Given the description of an element on the screen output the (x, y) to click on. 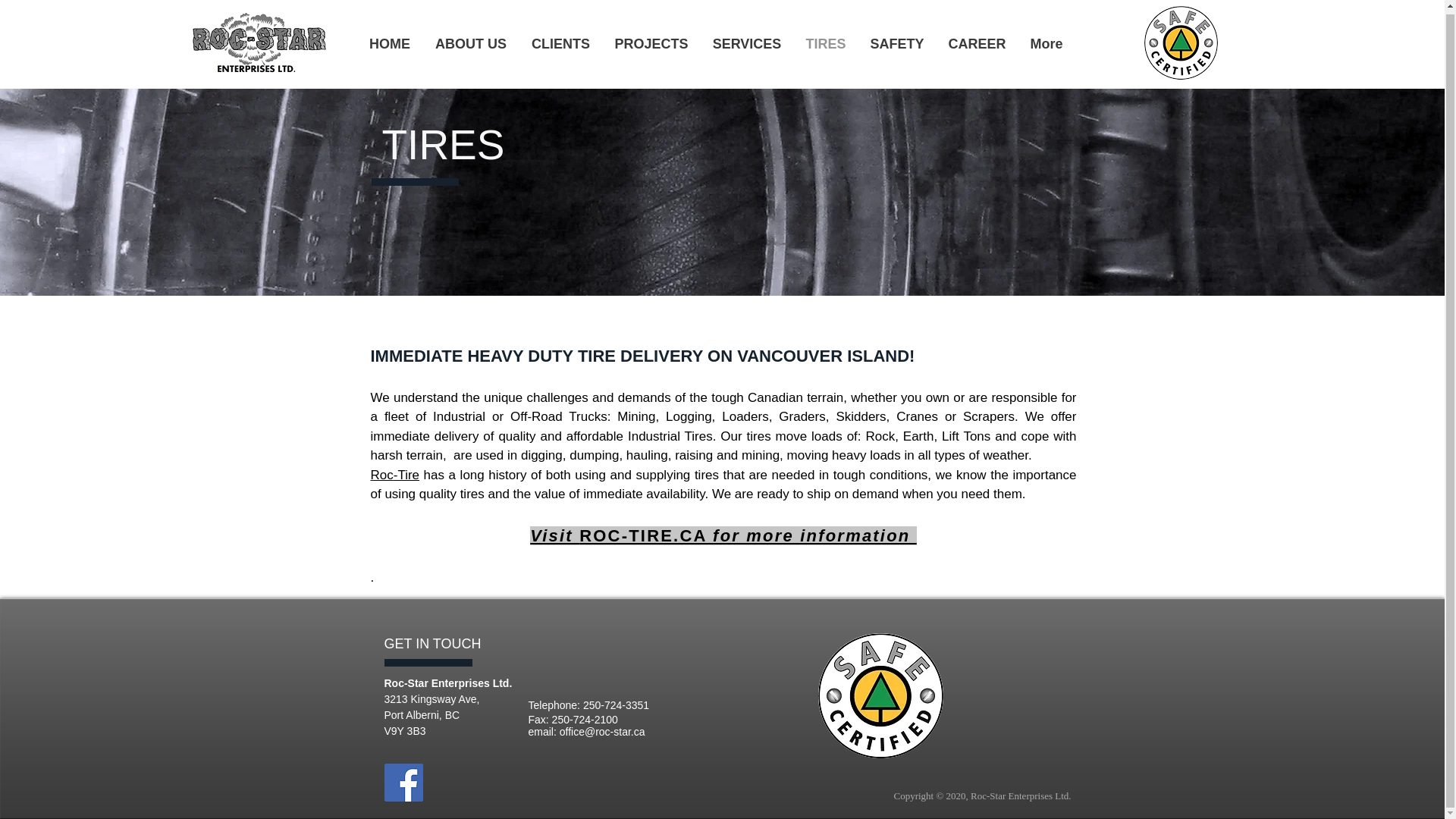
Roc (381, 473)
ABOUT US (471, 41)
SERVICES (746, 41)
Visit ROC-TIRE.CA for more information  (723, 535)
SAFETY (897, 41)
CAREER (976, 41)
TIRES (825, 41)
PROJECTS (651, 41)
HOME (389, 41)
CLIENTS (560, 41)
